Given the description of an element on the screen output the (x, y) to click on. 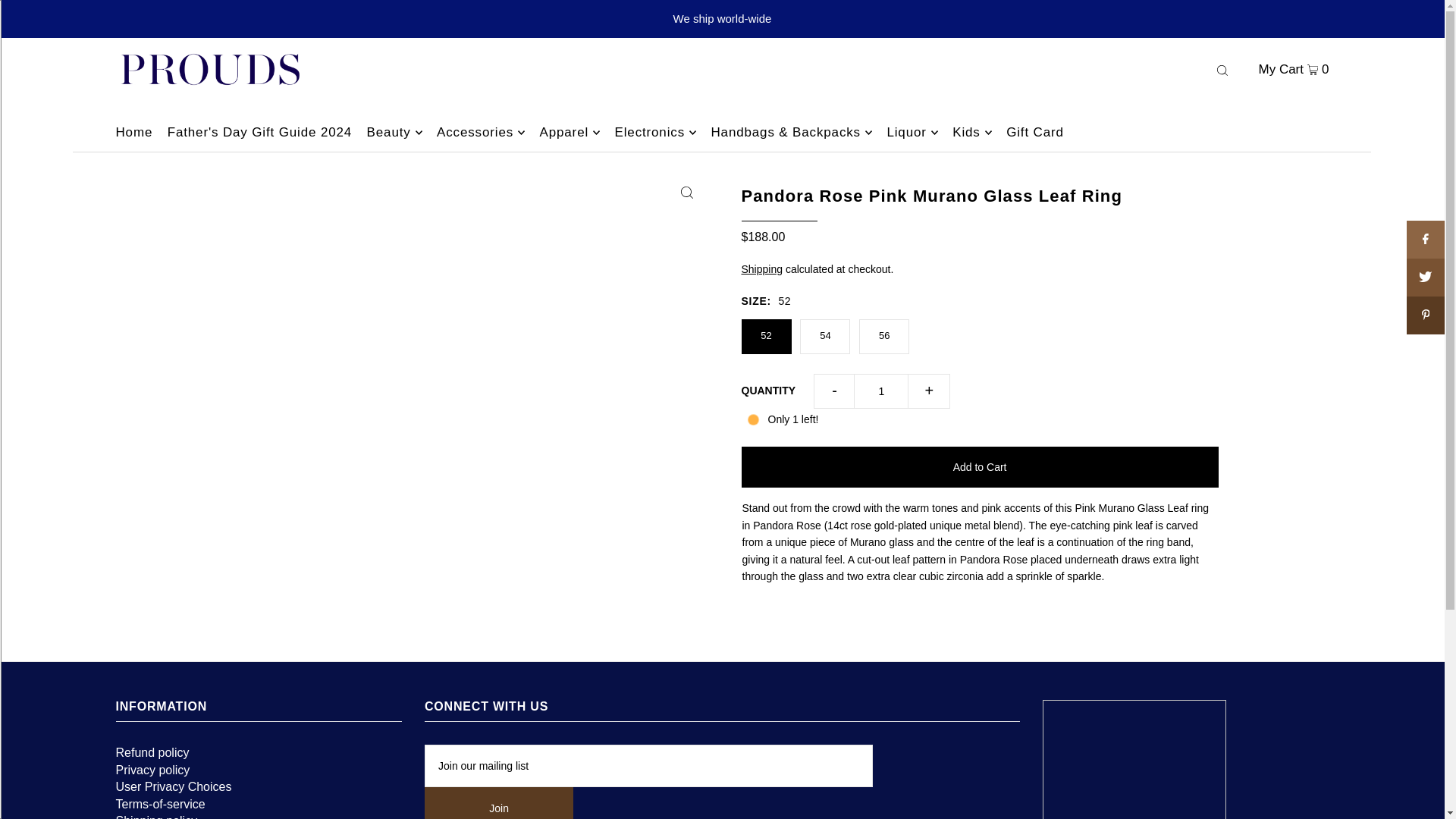
Join (499, 803)
Add to Cart (979, 466)
1 (880, 390)
Click to zoom (686, 191)
